Given the description of an element on the screen output the (x, y) to click on. 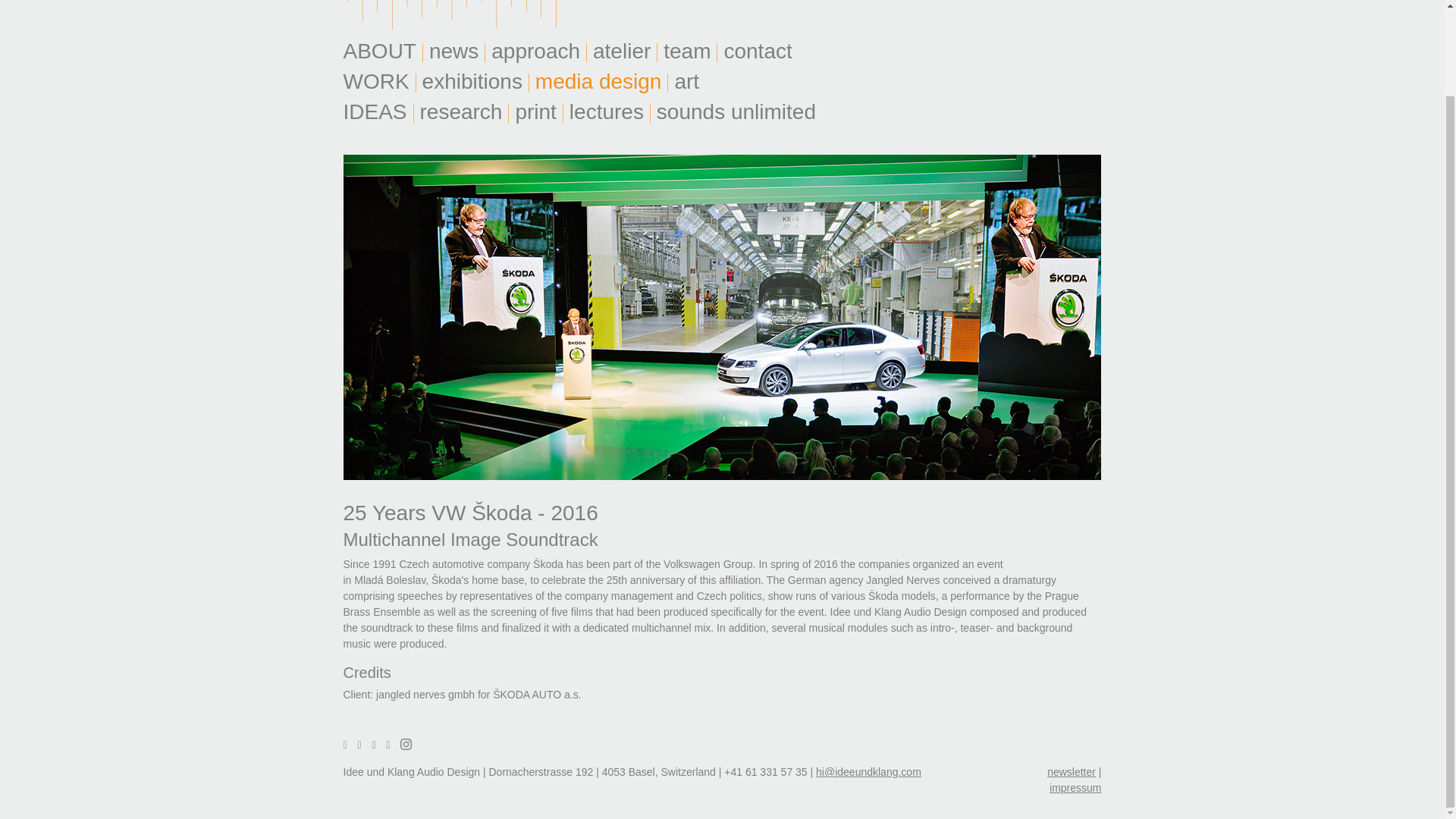
newsletter (1071, 771)
team (687, 51)
approach (535, 51)
media design (597, 81)
print (534, 111)
sounds unlimited (735, 111)
WORK (376, 81)
exhibitions (472, 81)
IDEAS (375, 111)
contact (756, 51)
ABOUT (379, 51)
Idee und Klang Audio Design (456, 14)
research (459, 111)
atelier (621, 51)
lectures (606, 111)
